Given the description of an element on the screen output the (x, y) to click on. 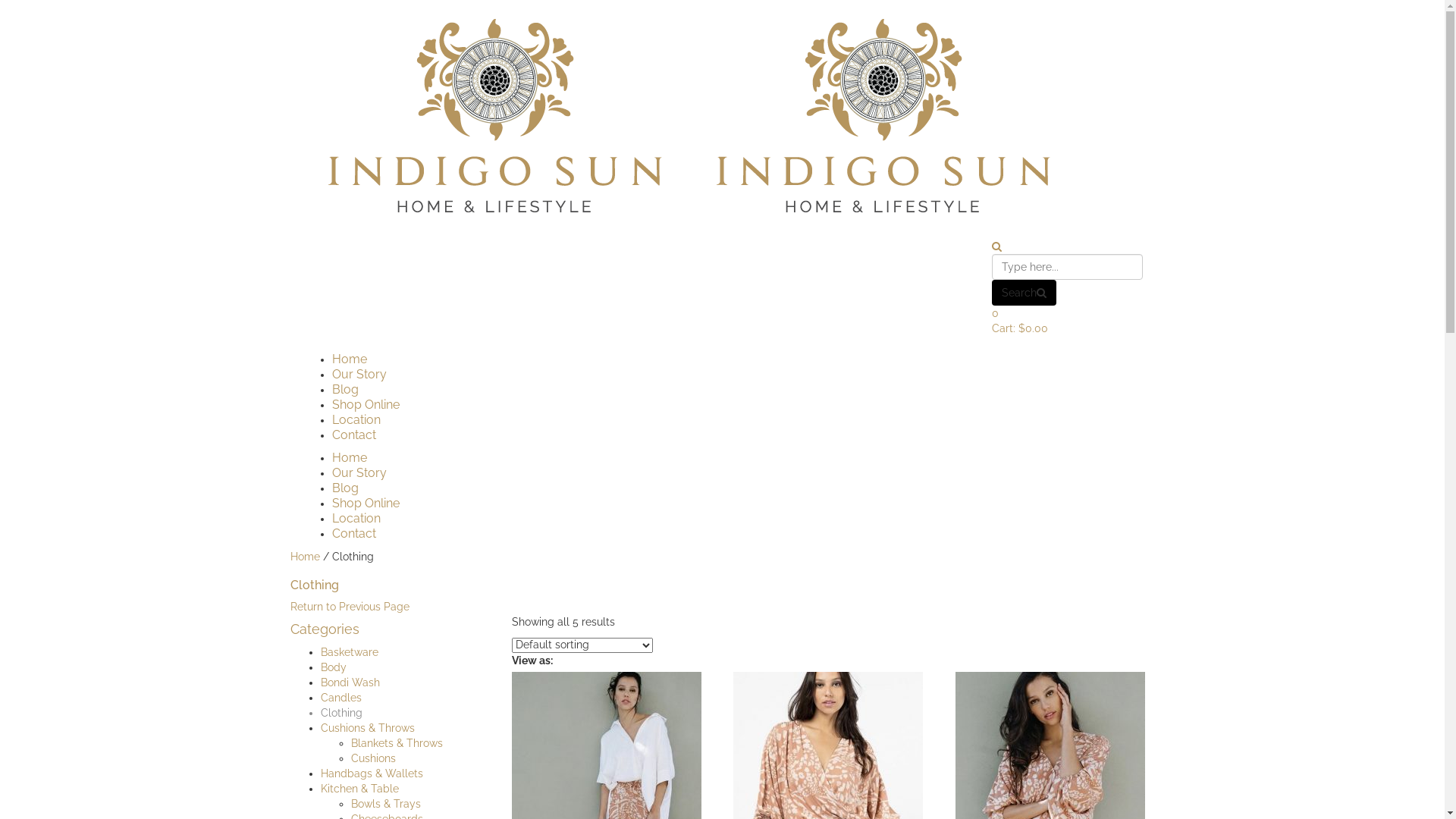
Shop Online Element type: text (365, 502)
Cushions & Throws Element type: text (367, 727)
Home Element type: text (349, 358)
Clothing Element type: text (340, 712)
Search Element type: text (1023, 292)
Kitchen & Table Element type: text (359, 788)
Contact Element type: text (354, 533)
Contact Element type: text (354, 434)
Blankets & Throws Element type: text (396, 743)
Shop Online Element type: text (365, 404)
0
Cart: $0.00 Element type: text (1066, 319)
Blog Element type: text (345, 487)
Handbags & Wallets Element type: text (371, 773)
Bowls & Trays Element type: text (385, 803)
Candles Element type: text (340, 697)
Cushions Element type: text (372, 758)
Location Element type: text (356, 419)
Our Story Element type: text (359, 374)
Home Element type: text (349, 457)
Bondi Wash Element type: text (349, 682)
Location Element type: text (356, 518)
Our Story Element type: text (359, 472)
Home Element type: text (304, 556)
Body Element type: text (332, 667)
Basketware Element type: text (348, 652)
Return to Previous Page Element type: text (348, 606)
Blog Element type: text (345, 389)
